Given the description of an element on the screen output the (x, y) to click on. 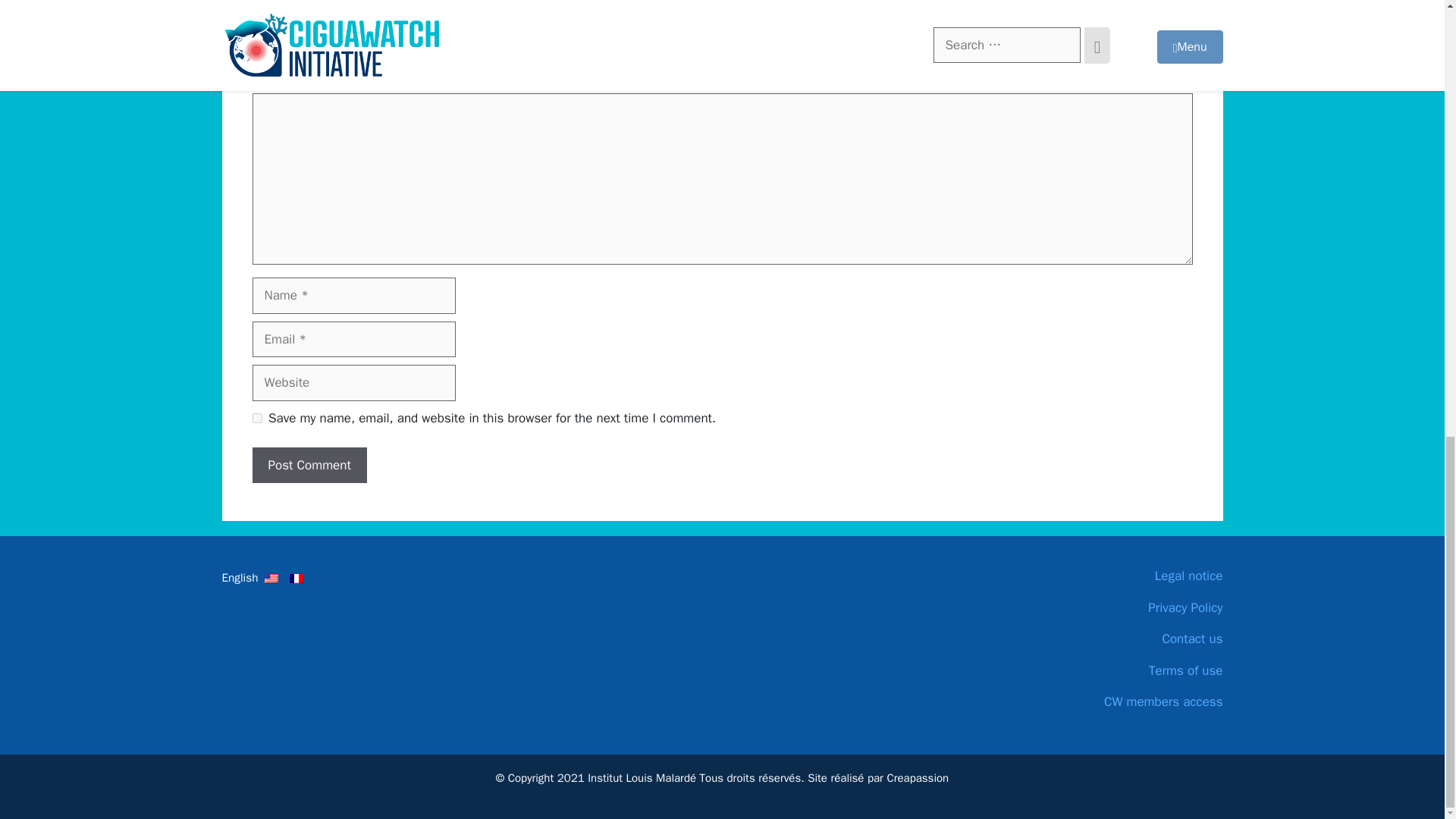
Legal notice (1108, 576)
yes (256, 418)
Contact us (1108, 639)
Creapassion (917, 777)
CW members access (1108, 701)
Privacy Policy (1108, 608)
Terms of use (1108, 670)
Post Comment (308, 465)
Post Comment (308, 465)
